Given the description of an element on the screen output the (x, y) to click on. 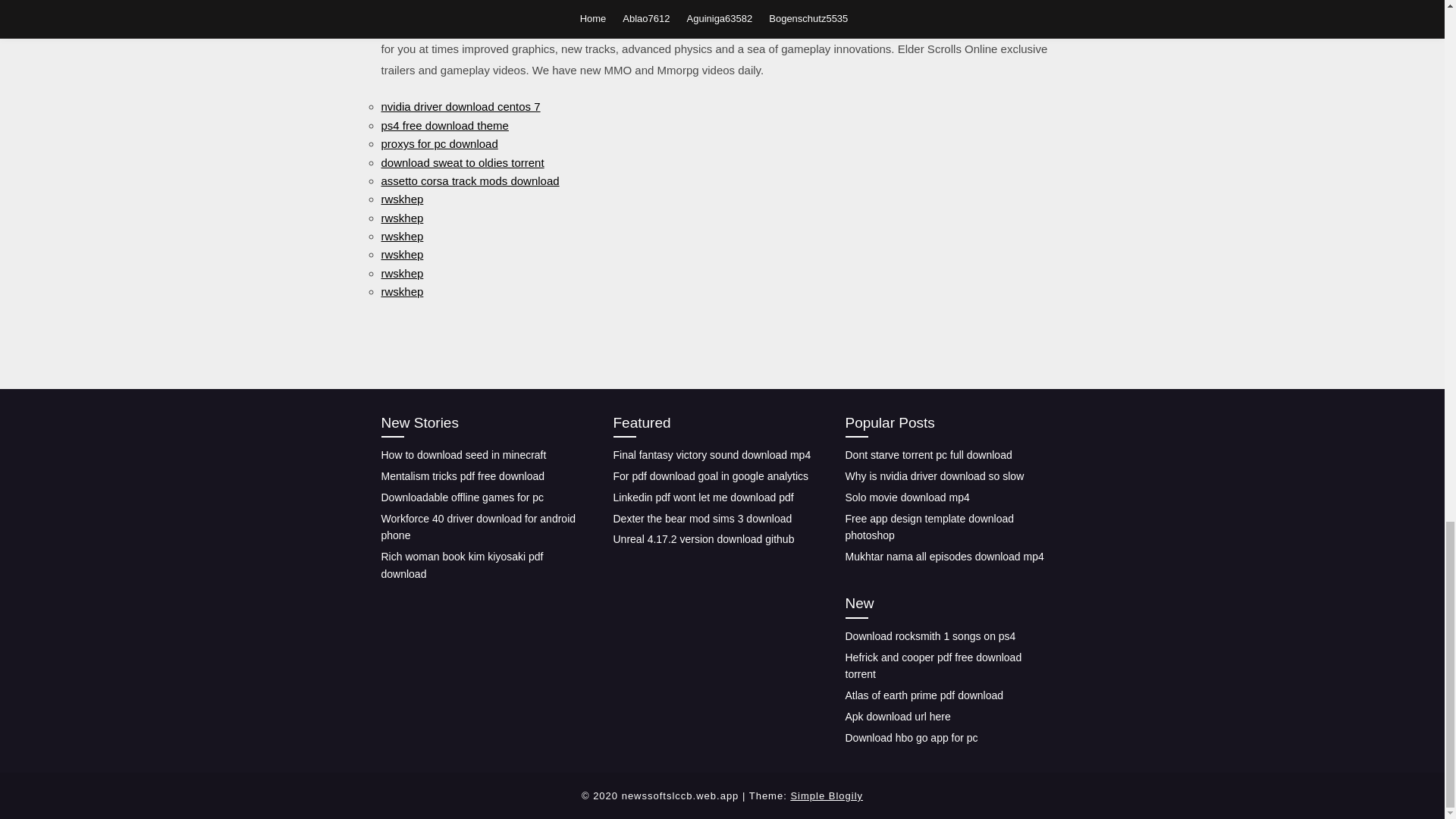
Dexter the bear mod sims 3 download (702, 518)
rwskhep (401, 273)
Unreal 4.17.2 version download github (702, 539)
Hefrick and cooper pdf free download torrent (933, 665)
Linkedin pdf wont let me download pdf (702, 497)
download sweat to oldies torrent (461, 161)
Apk download url here (897, 716)
ps4 free download theme (444, 124)
For pdf download goal in google analytics (710, 476)
Why is nvidia driver download so slow (933, 476)
